Given the description of an element on the screen output the (x, y) to click on. 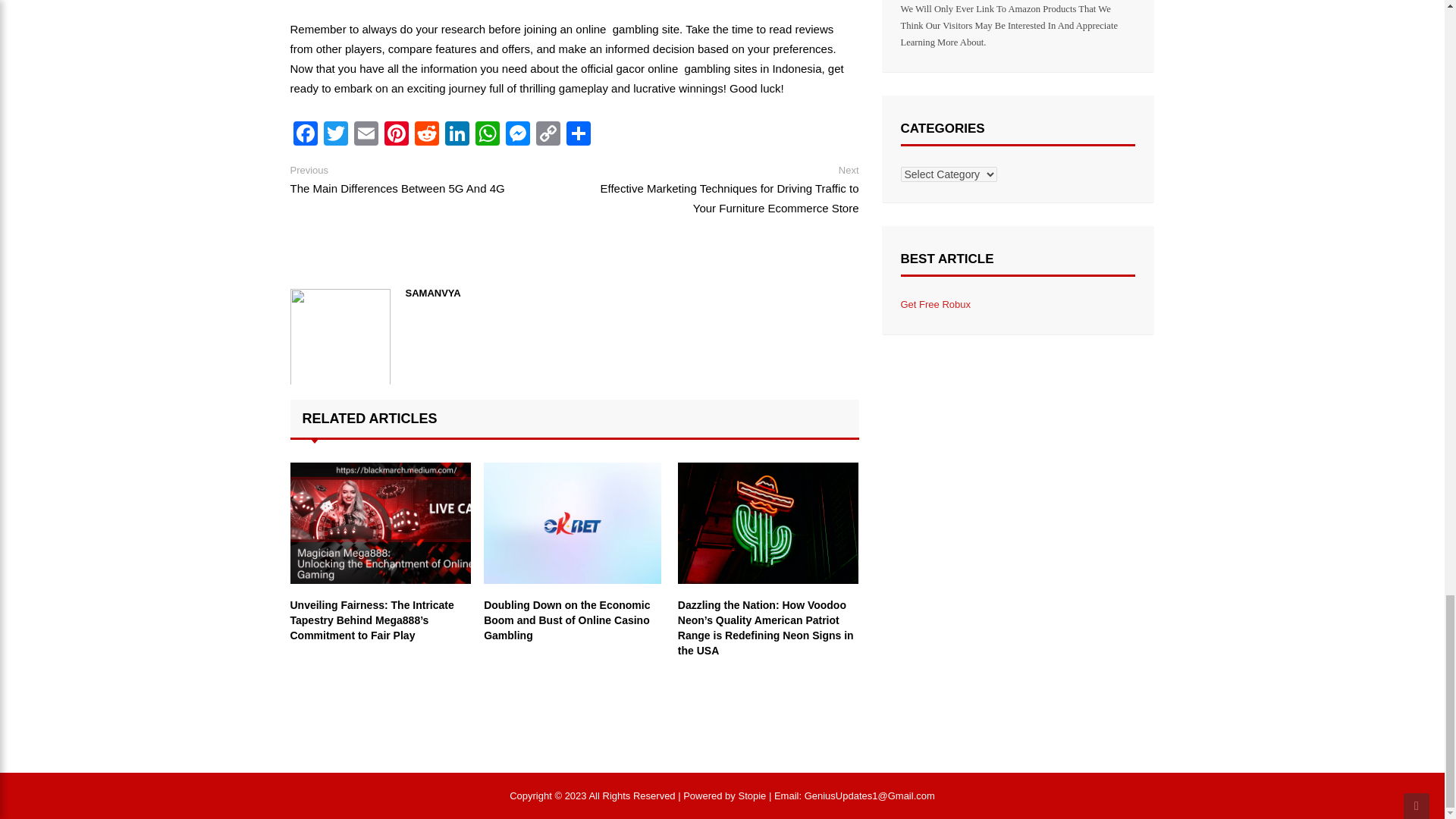
Copy Link (547, 135)
Reddit (425, 135)
Email (365, 135)
LinkedIn (456, 135)
Pinterest (395, 135)
Facebook (304, 135)
Pinterest (395, 135)
WhatsApp (486, 135)
Twitter (335, 135)
Messenger (517, 135)
